Given the description of an element on the screen output the (x, y) to click on. 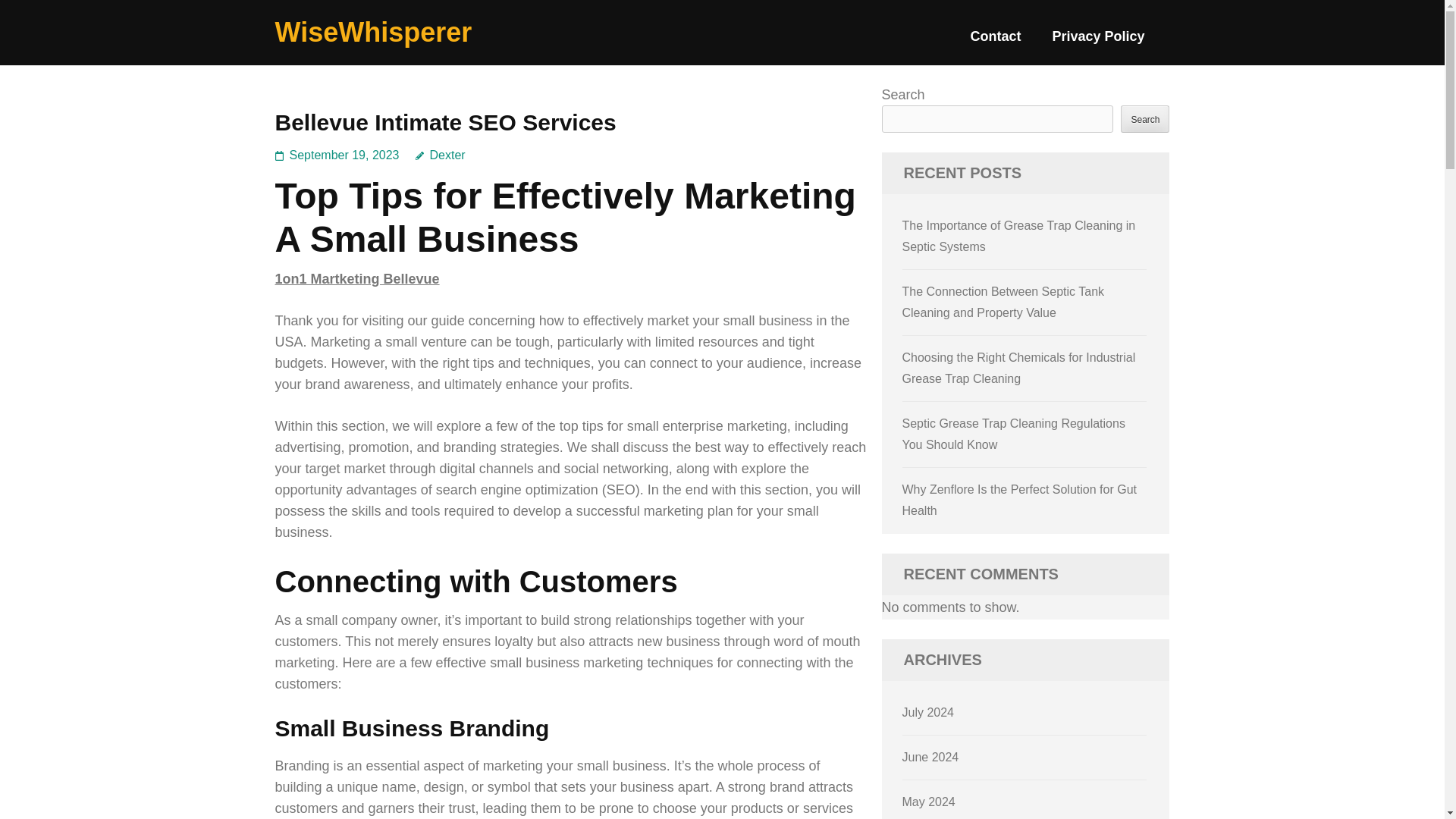
September 19, 2023 (343, 154)
Septic Grease Trap Cleaning Regulations You Should Know (1013, 433)
WiseWhisperer (373, 31)
Privacy Policy (1097, 42)
Contact (994, 42)
June 2024 (930, 757)
1on1 Martketing Bellevue (357, 278)
Dexter (439, 154)
May 2024 (928, 801)
July 2024 (928, 712)
Why Zenflore Is the Perfect Solution for Gut Health (1019, 499)
The Importance of Grease Trap Cleaning in Septic Systems (1018, 236)
Search (1145, 118)
